Given the description of an element on the screen output the (x, y) to click on. 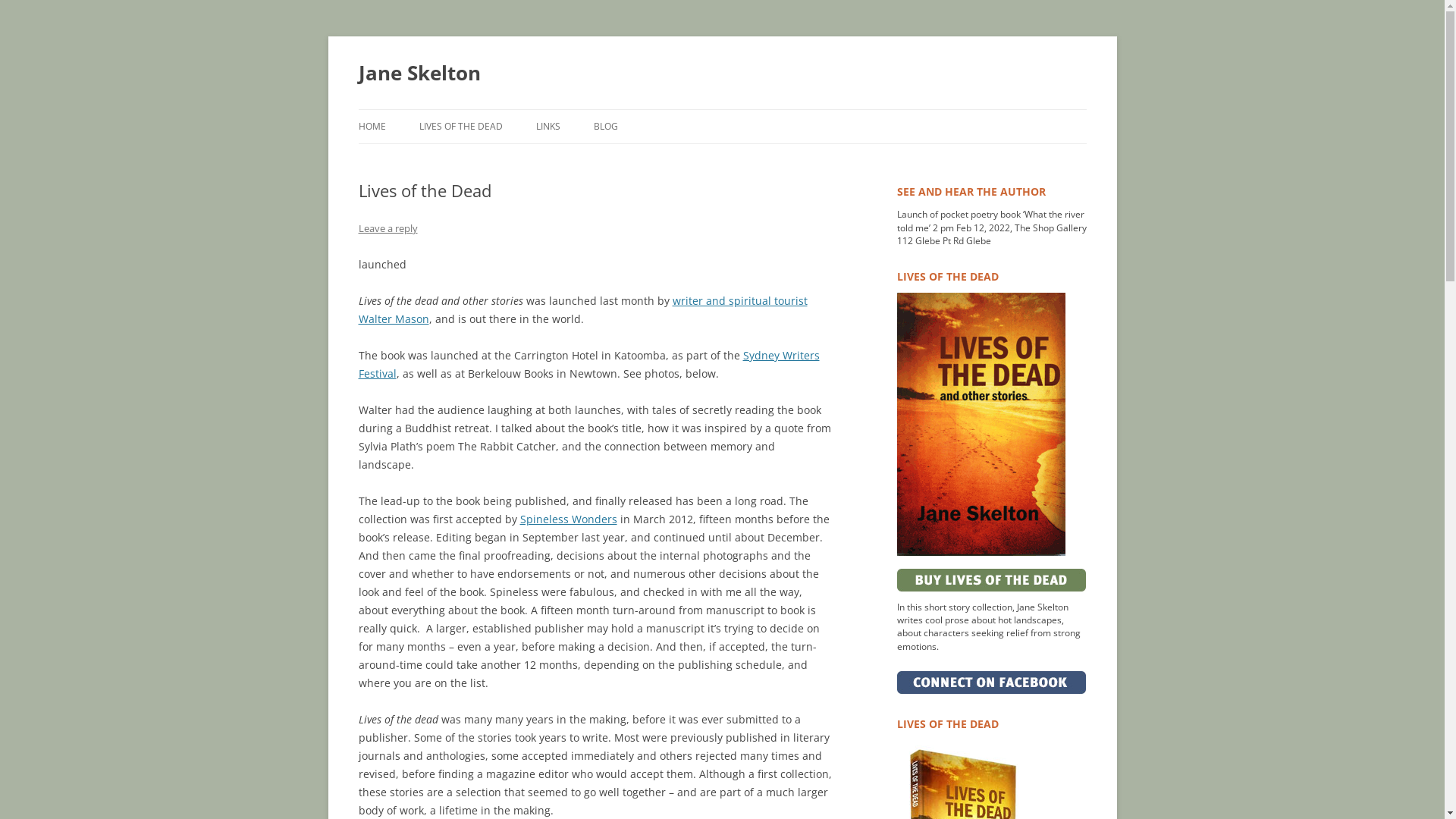
BLOG Element type: text (605, 126)
Jane Skelton Element type: text (418, 72)
Sydney Writers Festival Element type: text (588, 364)
Leave a reply Element type: text (387, 228)
Spineless Wonders Element type: text (568, 518)
HOME Element type: text (371, 126)
writer and spiritual tourist Walter Mason Element type: text (581, 309)
Skip to content Element type: text (721, 109)
LINKS Element type: text (547, 126)
LIVES OF THE DEAD Element type: text (460, 126)
